Given the description of an element on the screen output the (x, y) to click on. 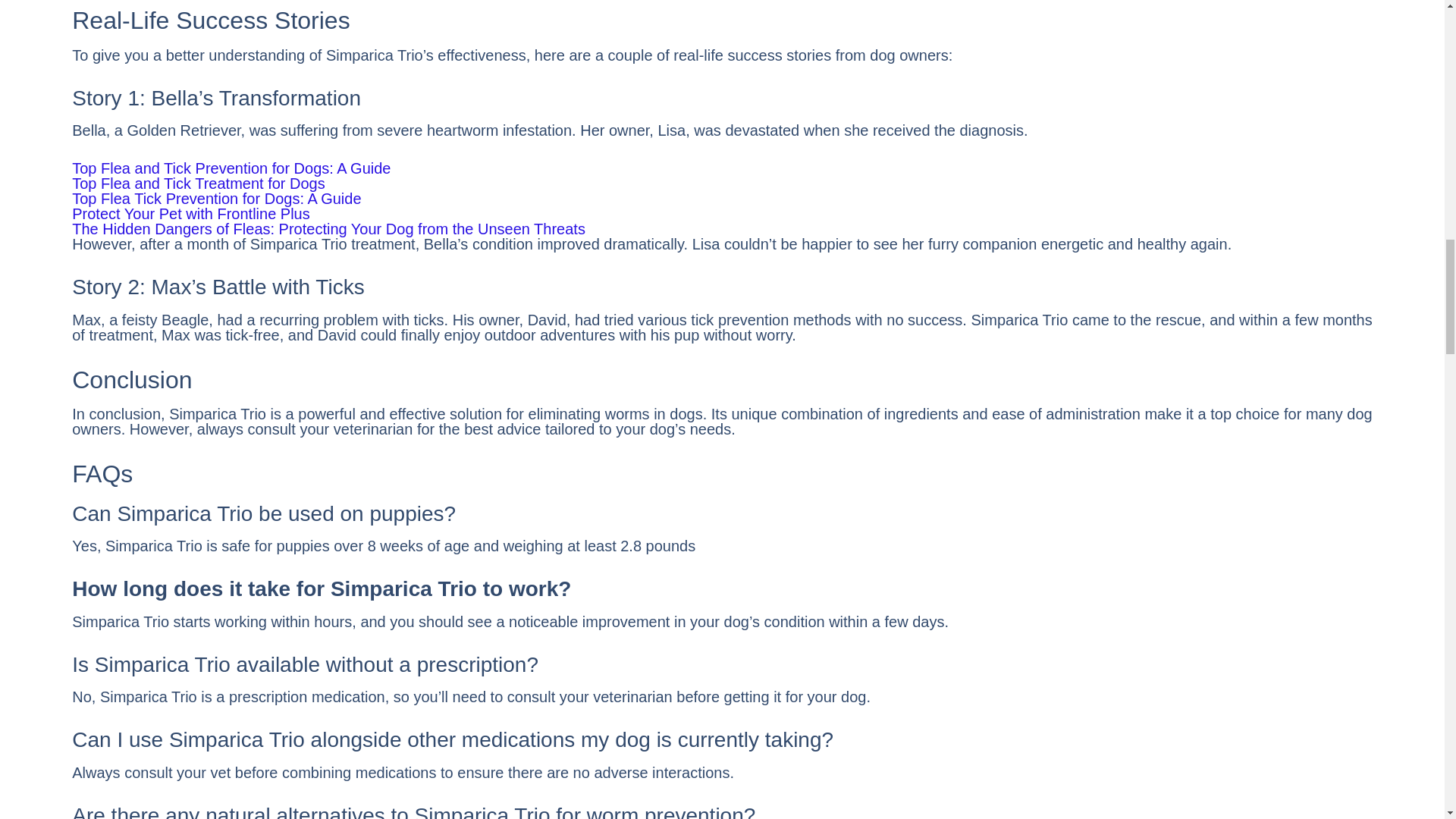
Protect Your Pet with Frontline Plus (190, 213)
Top Flea and Tick Treatment for Dogs (197, 183)
Top Flea and Tick Prevention for Dogs: A Guide (230, 167)
Top Flea Tick Prevention for Dogs: A Guide (216, 198)
